Given the description of an element on the screen output the (x, y) to click on. 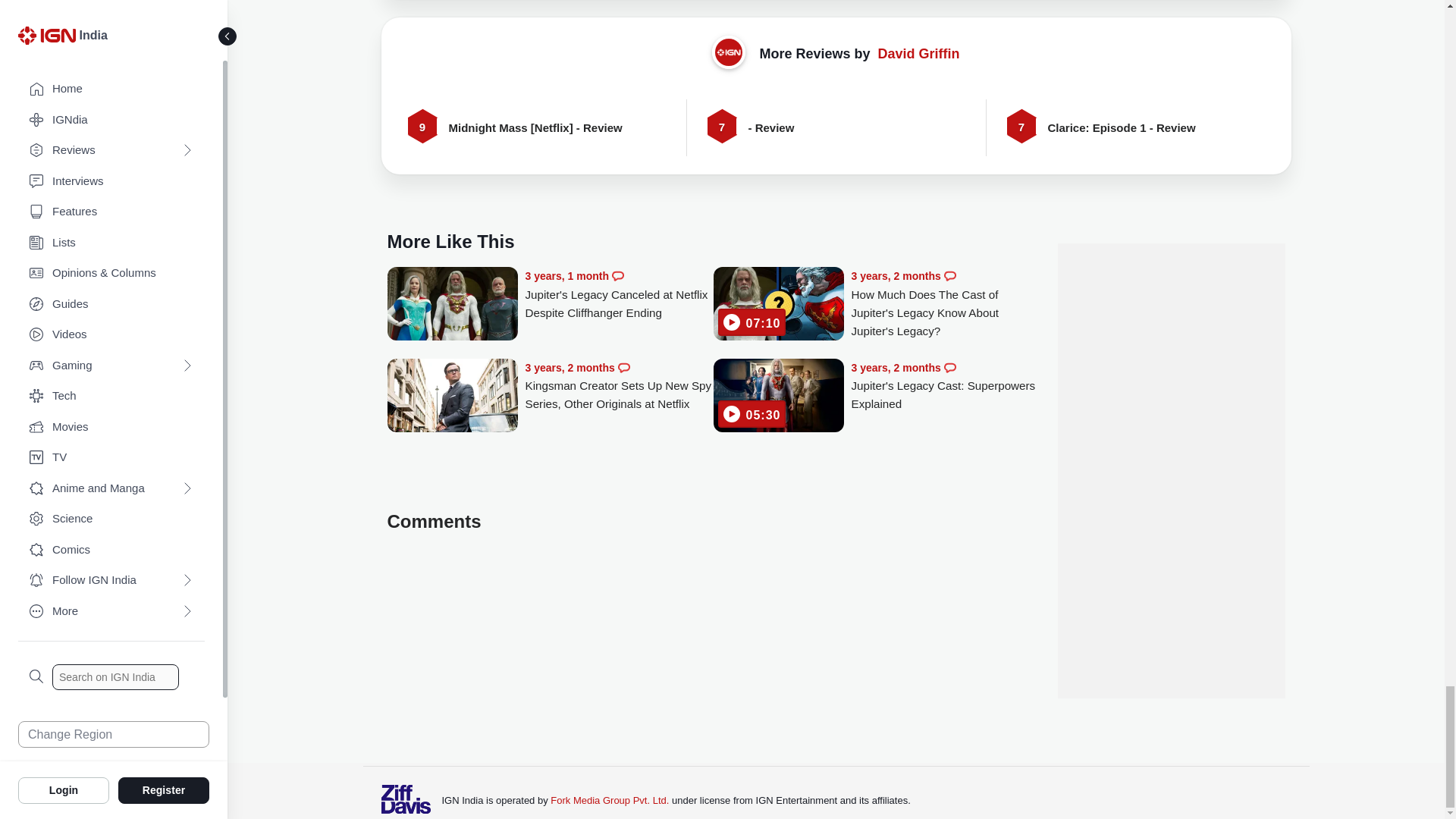
Jupiter's Legacy Cast: Superpowers Explained (778, 396)
Jupiter's Legacy Cast: Superpowers Explained (944, 386)
